Given the description of an element on the screen output the (x, y) to click on. 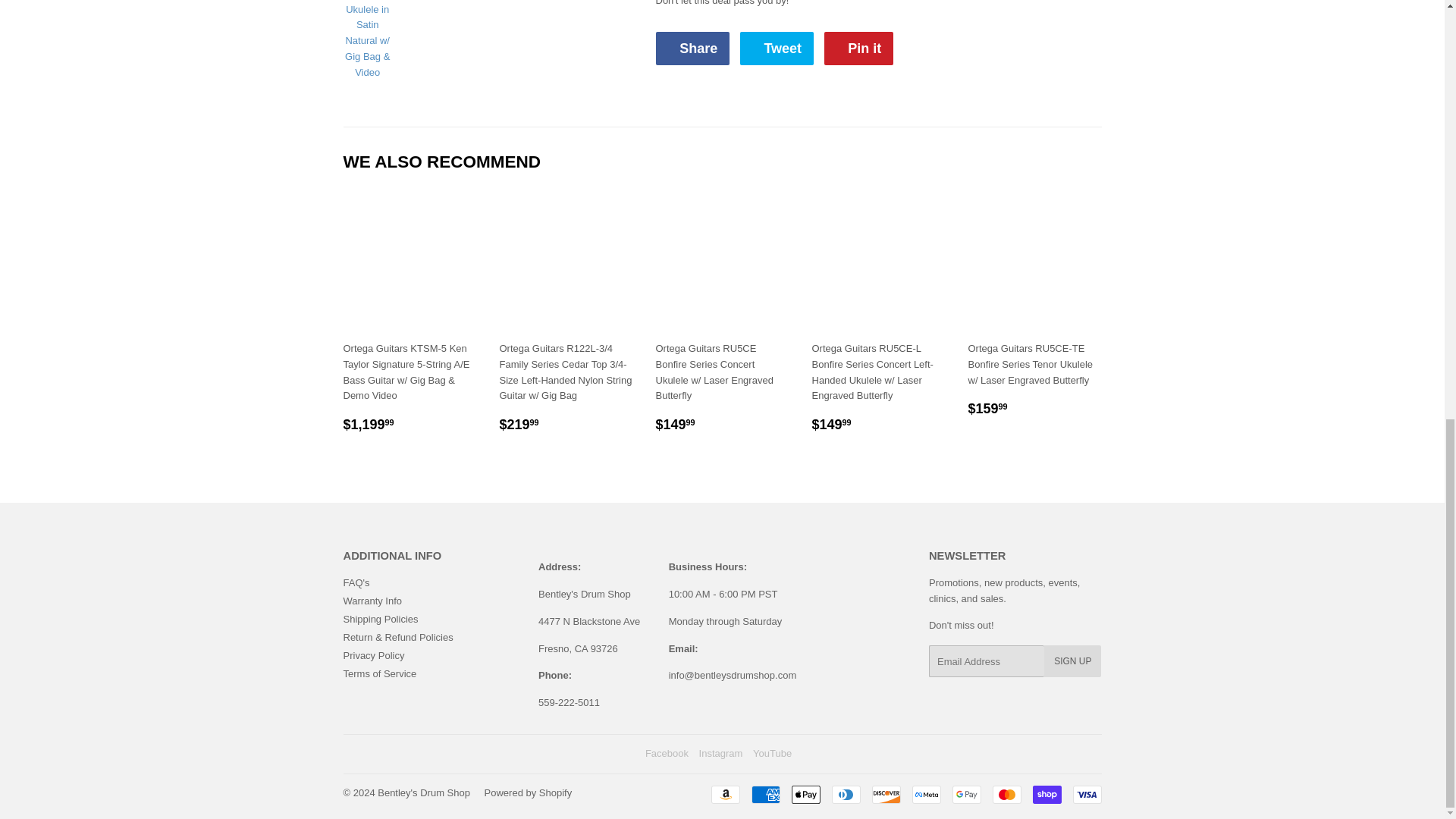
Apple Pay (806, 794)
Google Pay (966, 794)
American Express (764, 794)
Amazon (725, 794)
Pin on Pinterest (858, 48)
Tweet on Twitter (776, 48)
Mastercard (1005, 794)
Meta Pay (925, 794)
Discover (886, 794)
Share on Facebook (692, 48)
Visa (1085, 794)
Shop Pay (1046, 794)
tel:5592225011 (568, 702)
Diners Club (845, 794)
